Given the description of an element on the screen output the (x, y) to click on. 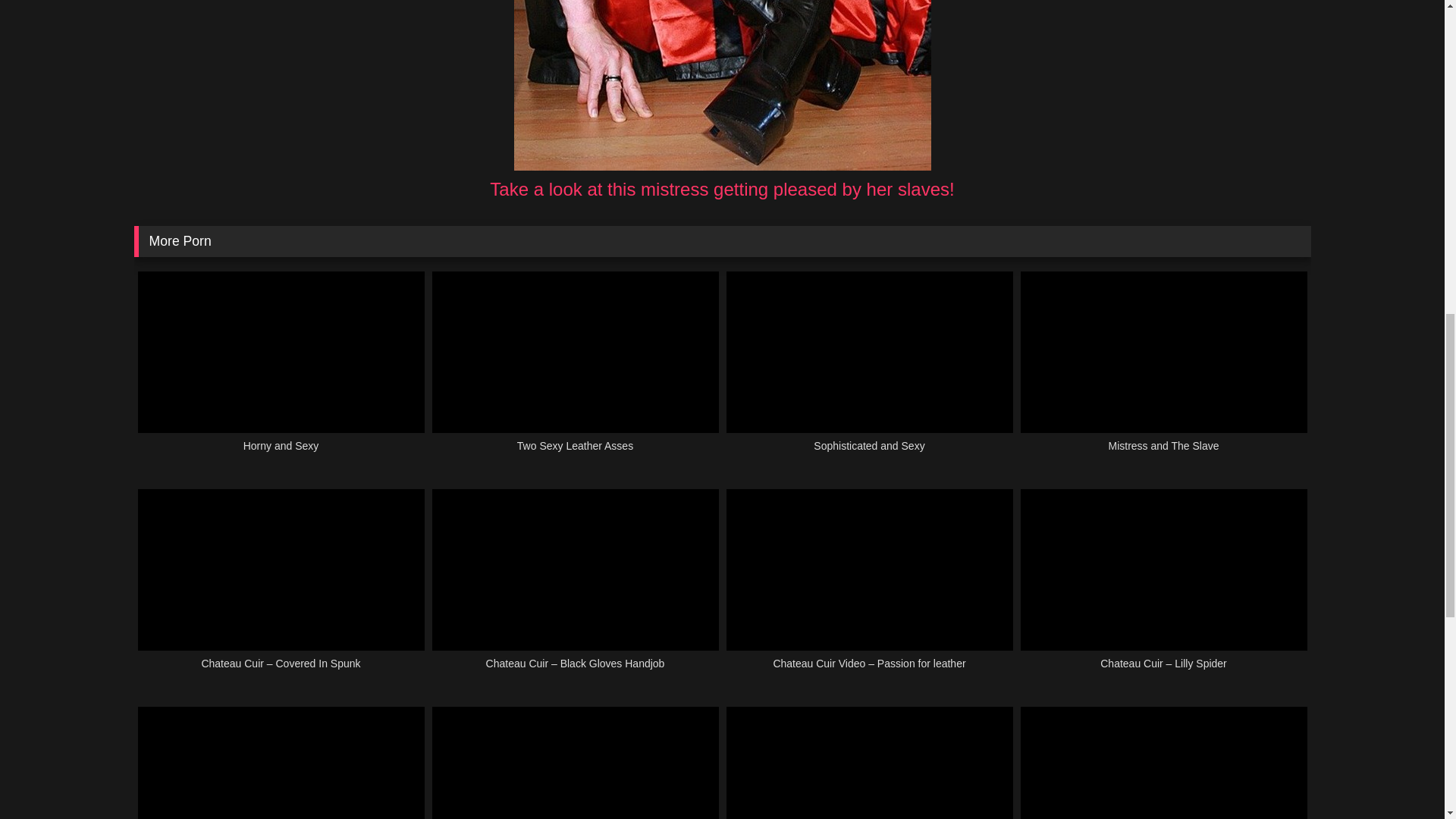
Horny and Sexy (281, 370)
Sophisticated and Sexy (869, 370)
Two Sexy Leather Asses (575, 370)
Mistress and The Slave (1163, 370)
Mistress and The Slave (1163, 370)
Fetish For Real Furs (869, 762)
chateau-cuir-british-mistress-cherry (722, 85)
Take a look at this mistress getting pleased by her slaves! (721, 189)
Sophisticated and Sexy (869, 370)
Horny and Sexy (281, 370)
